Given the description of an element on the screen output the (x, y) to click on. 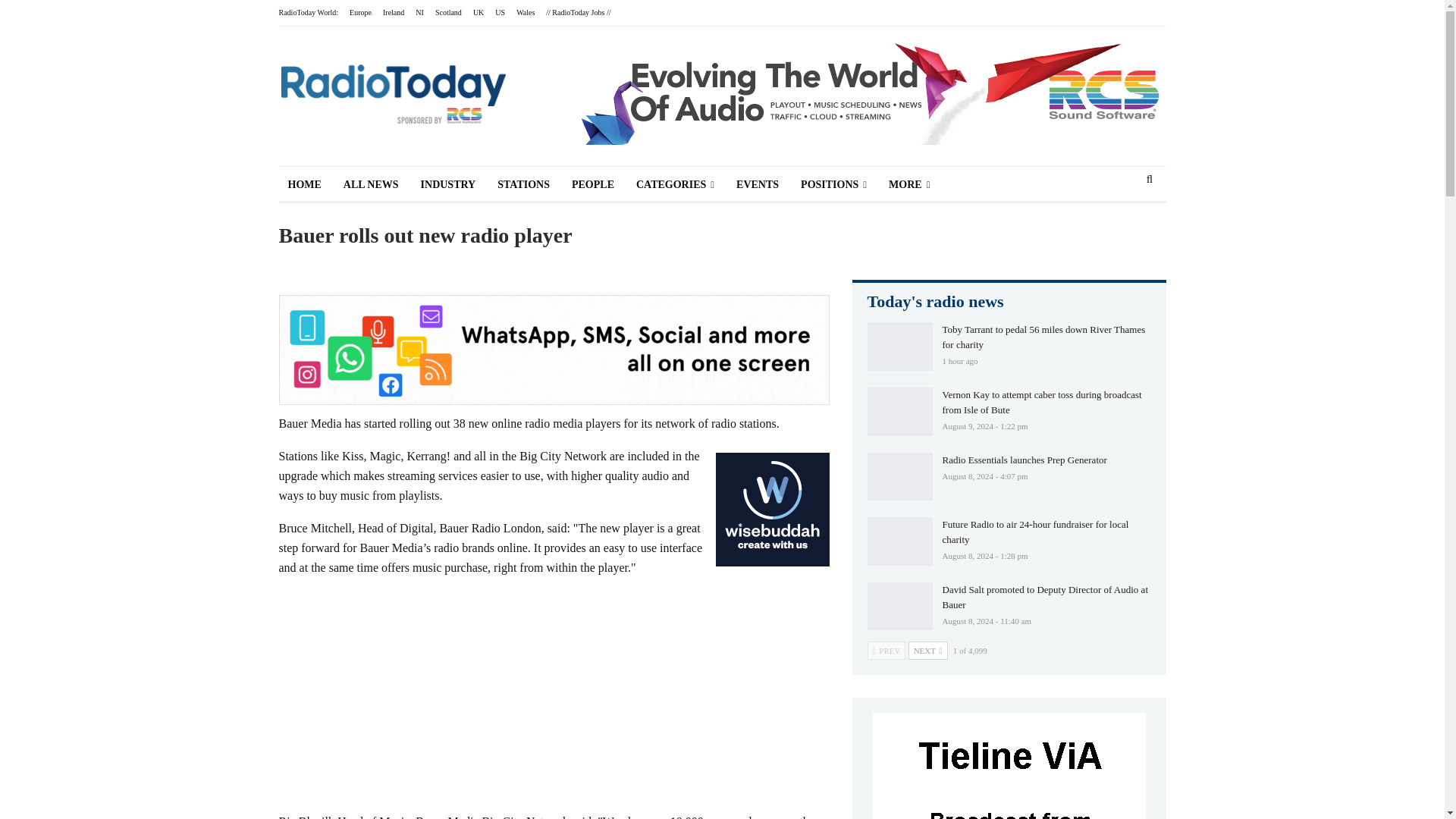
CATEGORIES (675, 185)
Europe (360, 12)
STATIONS (523, 185)
US (500, 12)
RadioToday World: (309, 12)
Wales (525, 12)
HOME (304, 185)
PEOPLE (592, 185)
Advertisement (554, 696)
ALL NEWS (370, 185)
